Given the description of an element on the screen output the (x, y) to click on. 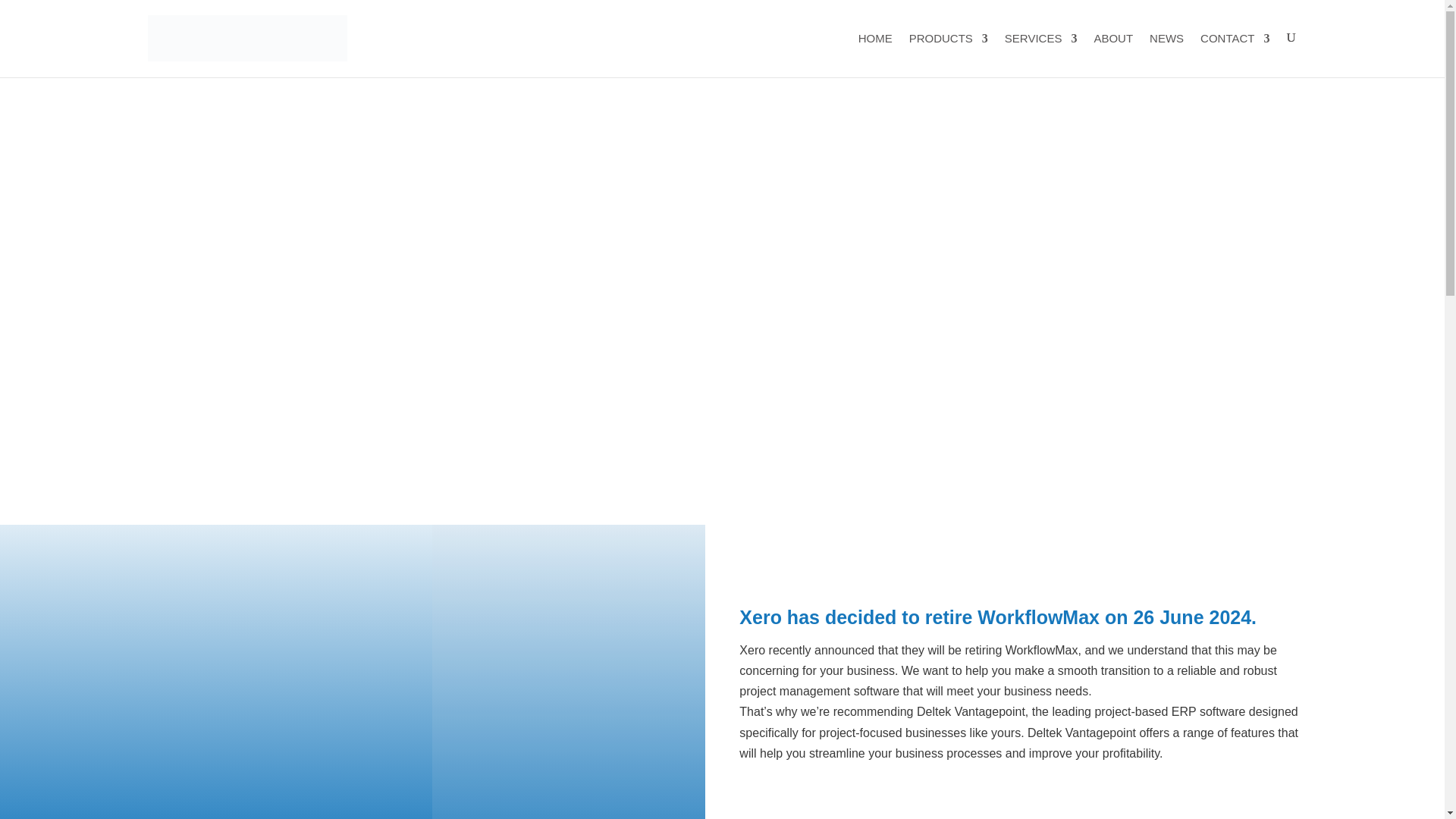
PRODUCTS (948, 53)
Smart-Software-BG-027 (568, 671)
SERVICES (1040, 53)
CONTACT (1234, 53)
